Given the description of an element on the screen output the (x, y) to click on. 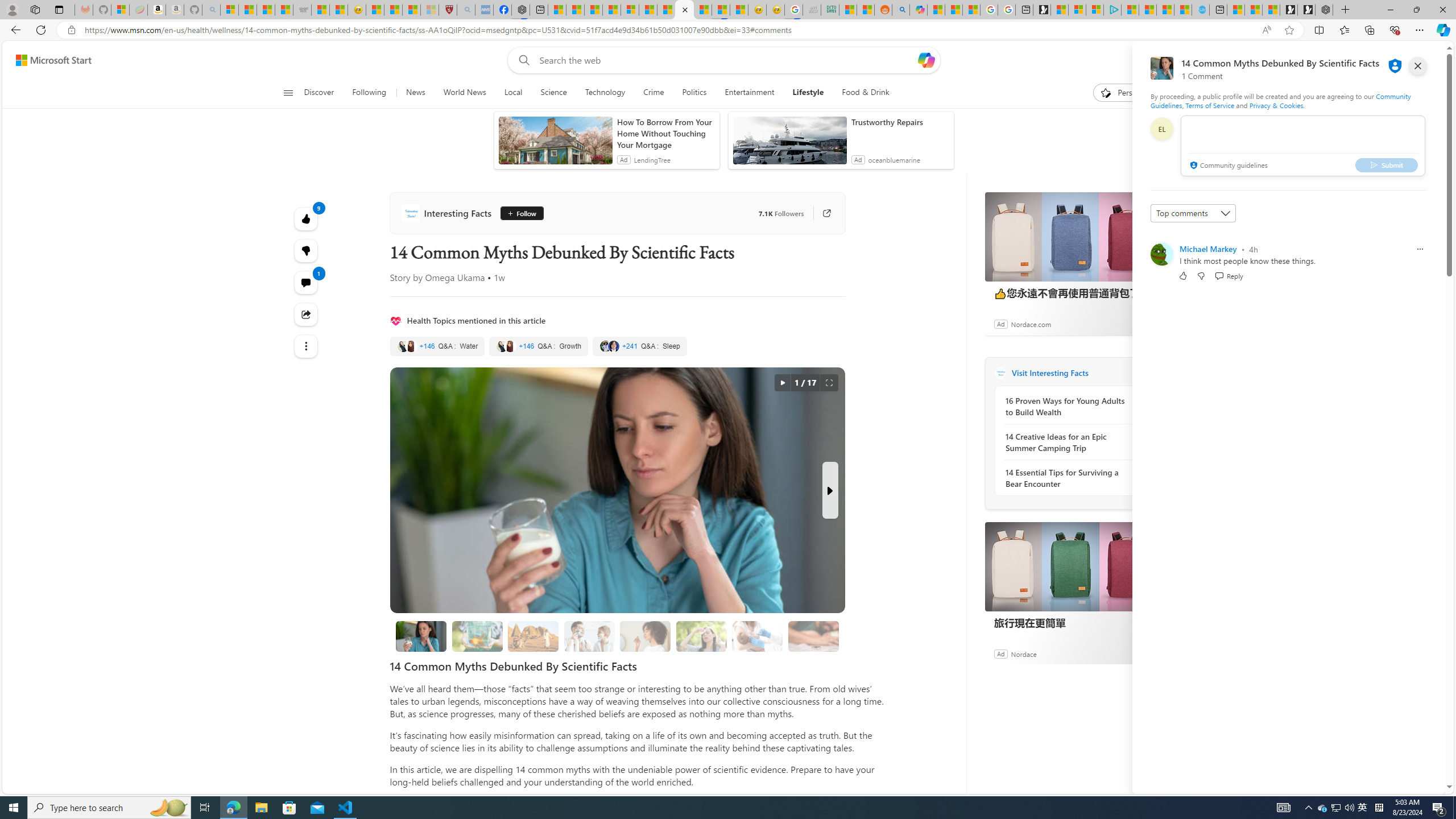
Technology (604, 92)
Combat Siege (301, 9)
Class: button-glyph (287, 92)
Robert H. Shmerling, MD - Harvard Health (447, 9)
Interesting Facts (1000, 372)
Science (553, 92)
